Given the description of an element on the screen output the (x, y) to click on. 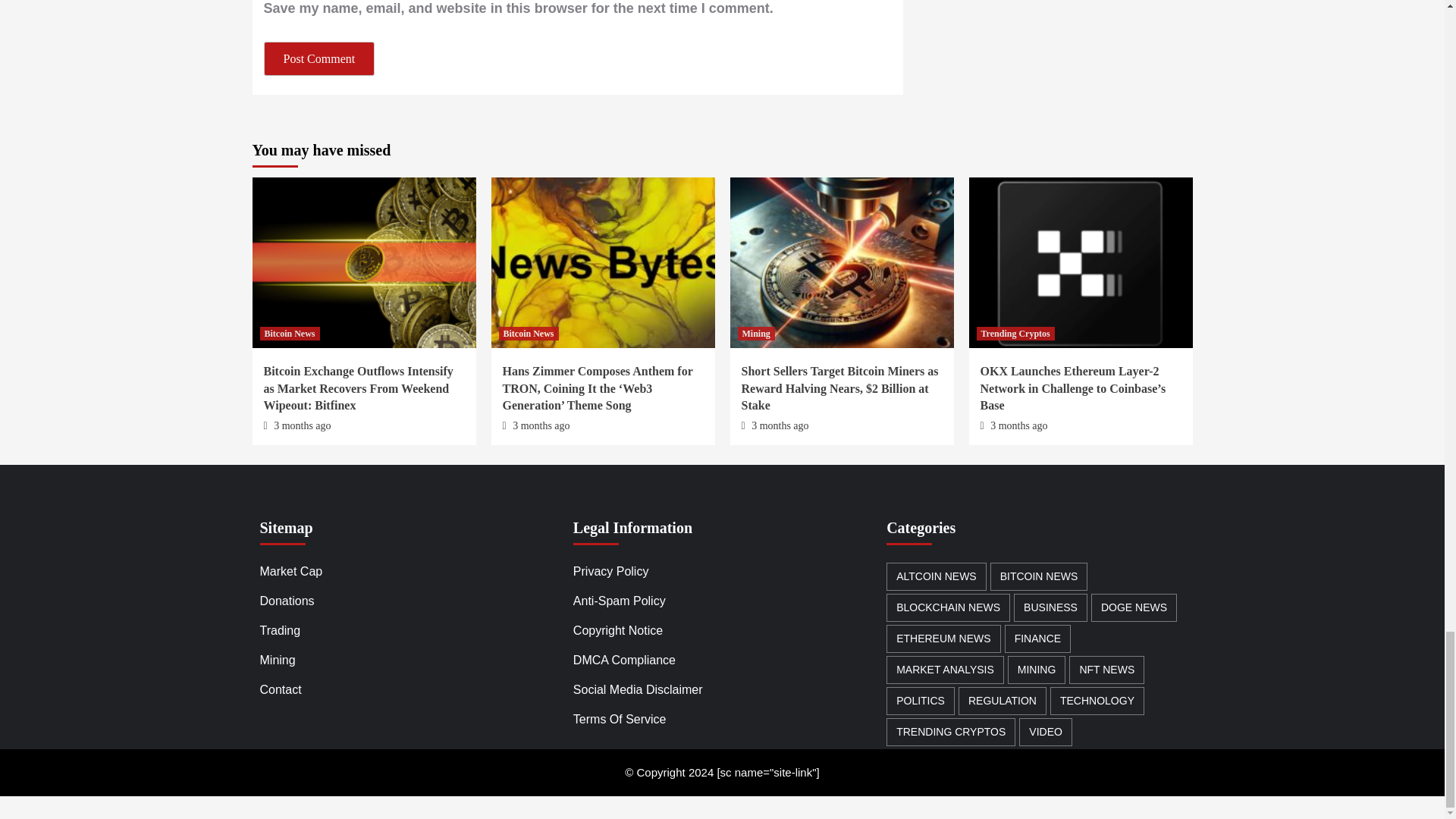
Post Comment (319, 58)
